Given the description of an element on the screen output the (x, y) to click on. 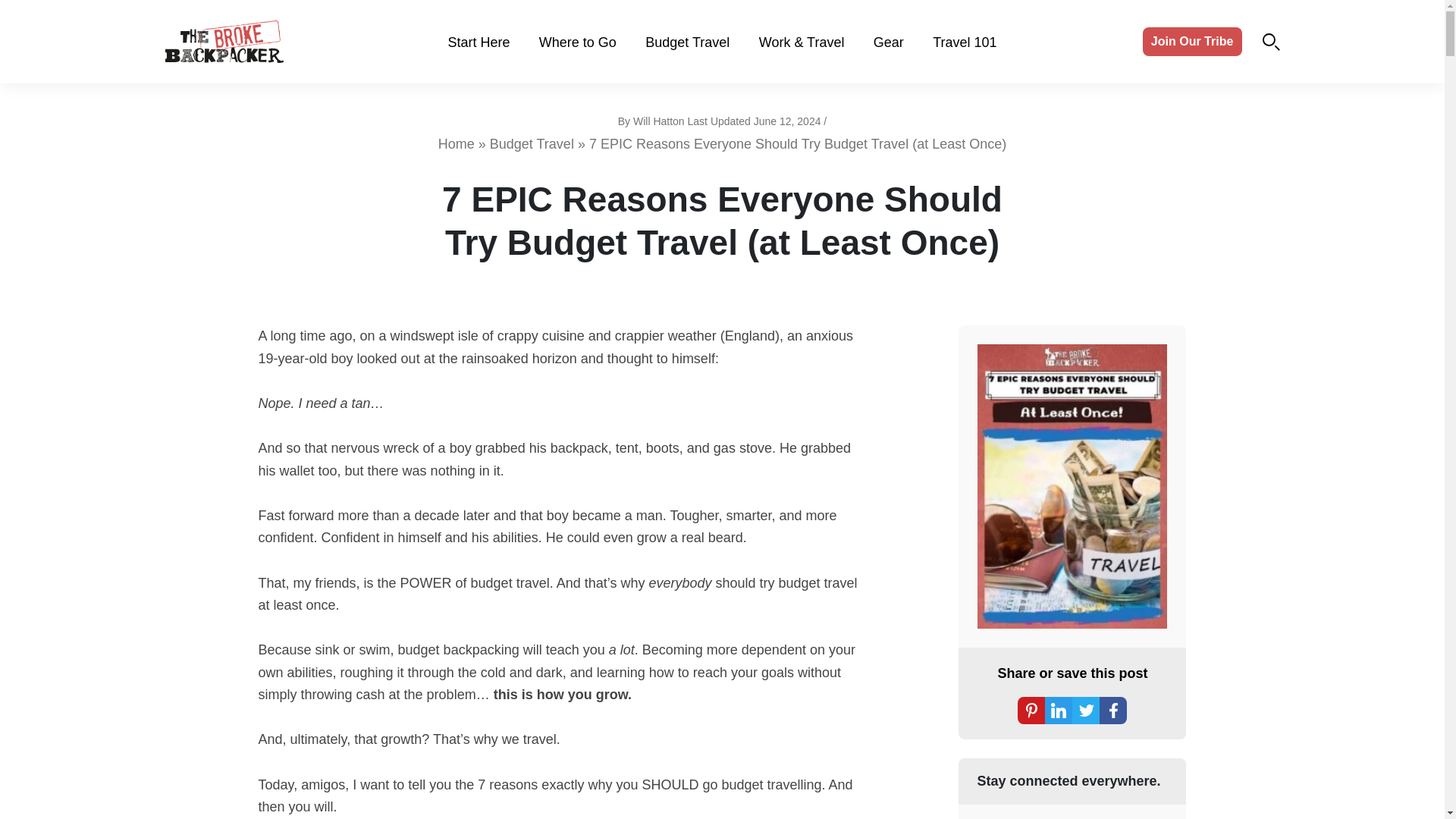
Where to Go (576, 42)
Start Here (477, 42)
